Given the description of an element on the screen output the (x, y) to click on. 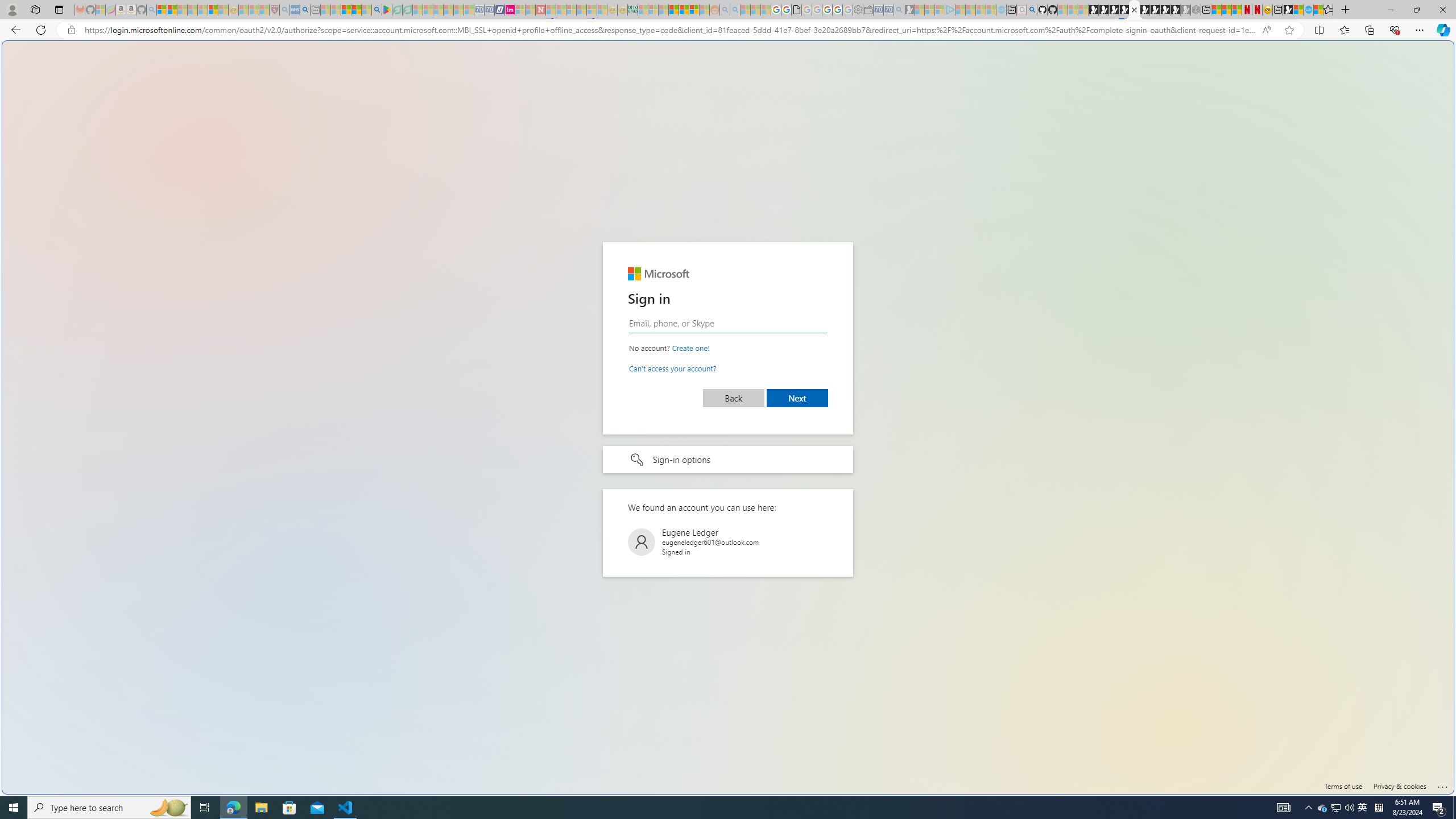
github - Search (1032, 9)
Sign-in options (727, 459)
